Given the description of an element on the screen output the (x, y) to click on. 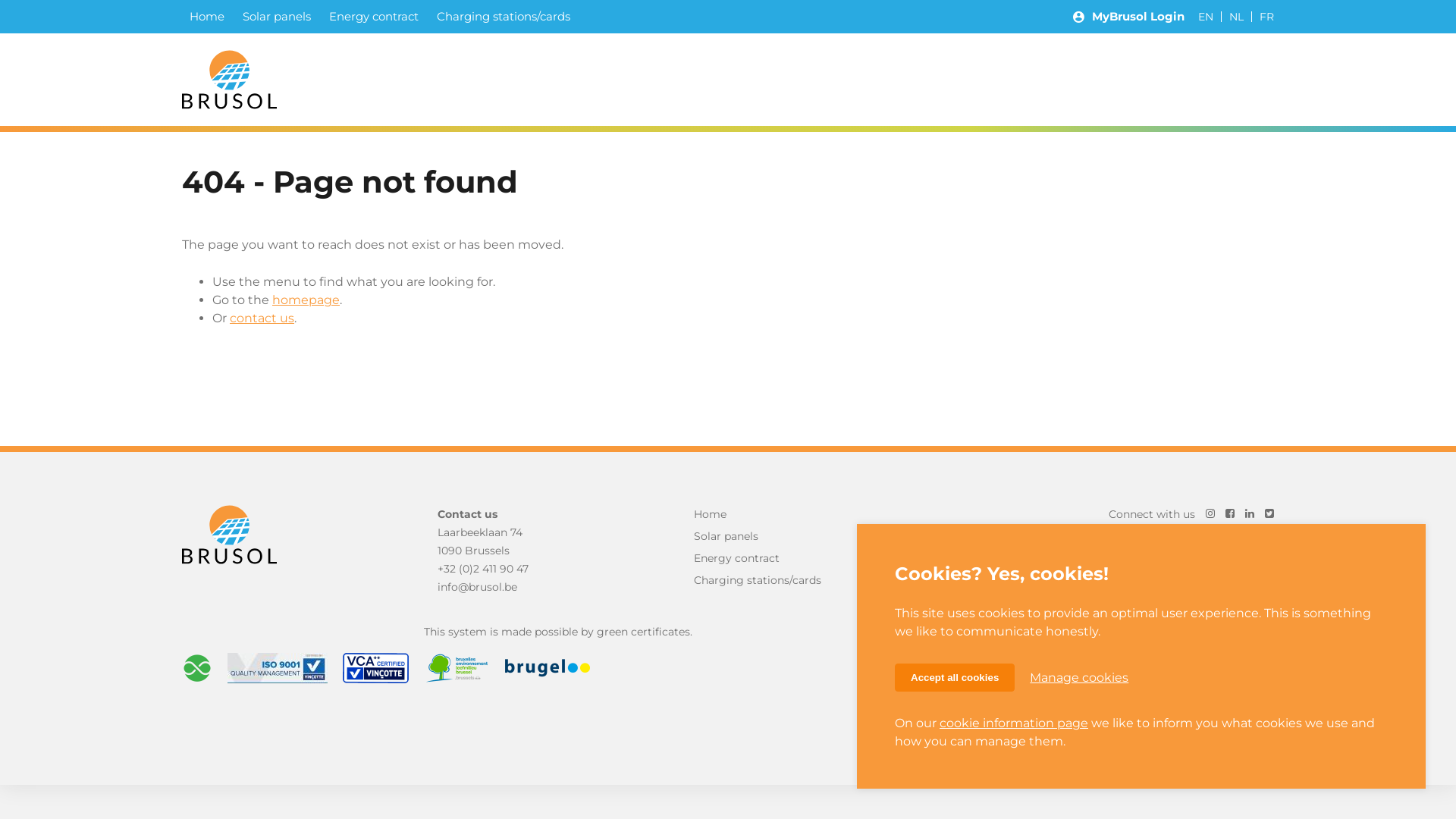
Charging stations/cards Element type: text (503, 16)
contact us Element type: text (261, 317)
Home Element type: text (778, 514)
Charging stations/cards Element type: text (778, 580)
Home Element type: hover (229, 79)
Accept all cookies Element type: text (954, 677)
Cookie statement Element type: text (1150, 722)
FR Element type: text (1266, 16)
NL Element type: text (1236, 16)
Privacy policy Element type: text (1047, 722)
Disclaimer Element type: text (1245, 722)
Home Element type: hover (229, 534)
EN Element type: text (1205, 16)
Solar panels Element type: text (778, 536)
+32 (0)2 411 90 47 Element type: text (482, 568)
Home Element type: text (206, 16)
info@brusol.be Element type: text (477, 586)
homepage Element type: text (305, 299)
Energy contract Element type: text (373, 16)
MyBrusol Login Element type: text (1128, 16)
Energy contract Element type: text (778, 558)
cookie information page Element type: text (1013, 722)
Solar panels Element type: text (276, 16)
